Given the description of an element on the screen output the (x, y) to click on. 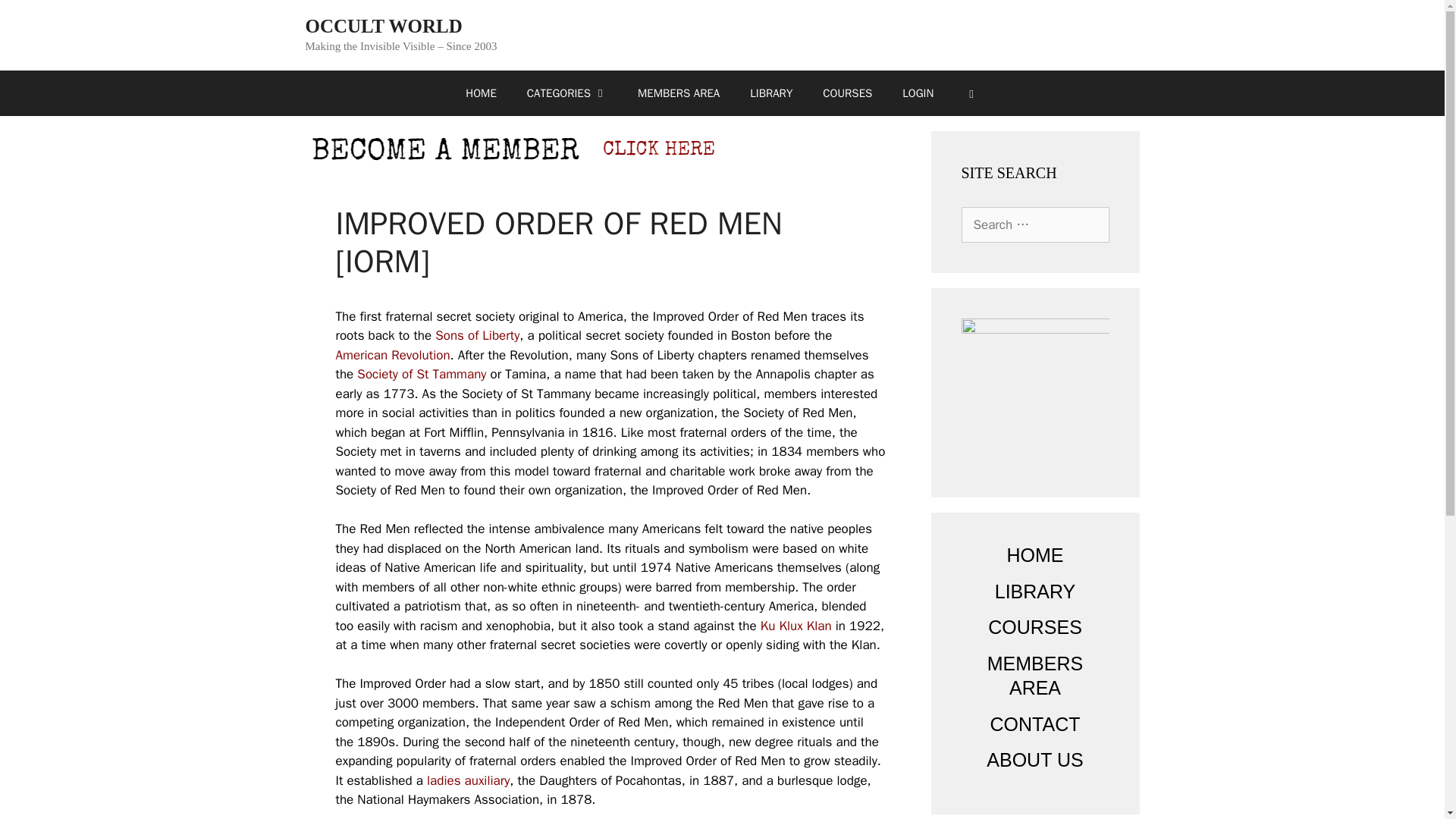
Search for: (1034, 224)
OCCULT WORLD (382, 25)
HOME (480, 92)
CATEGORIES (567, 92)
